Given the description of an element on the screen output the (x, y) to click on. 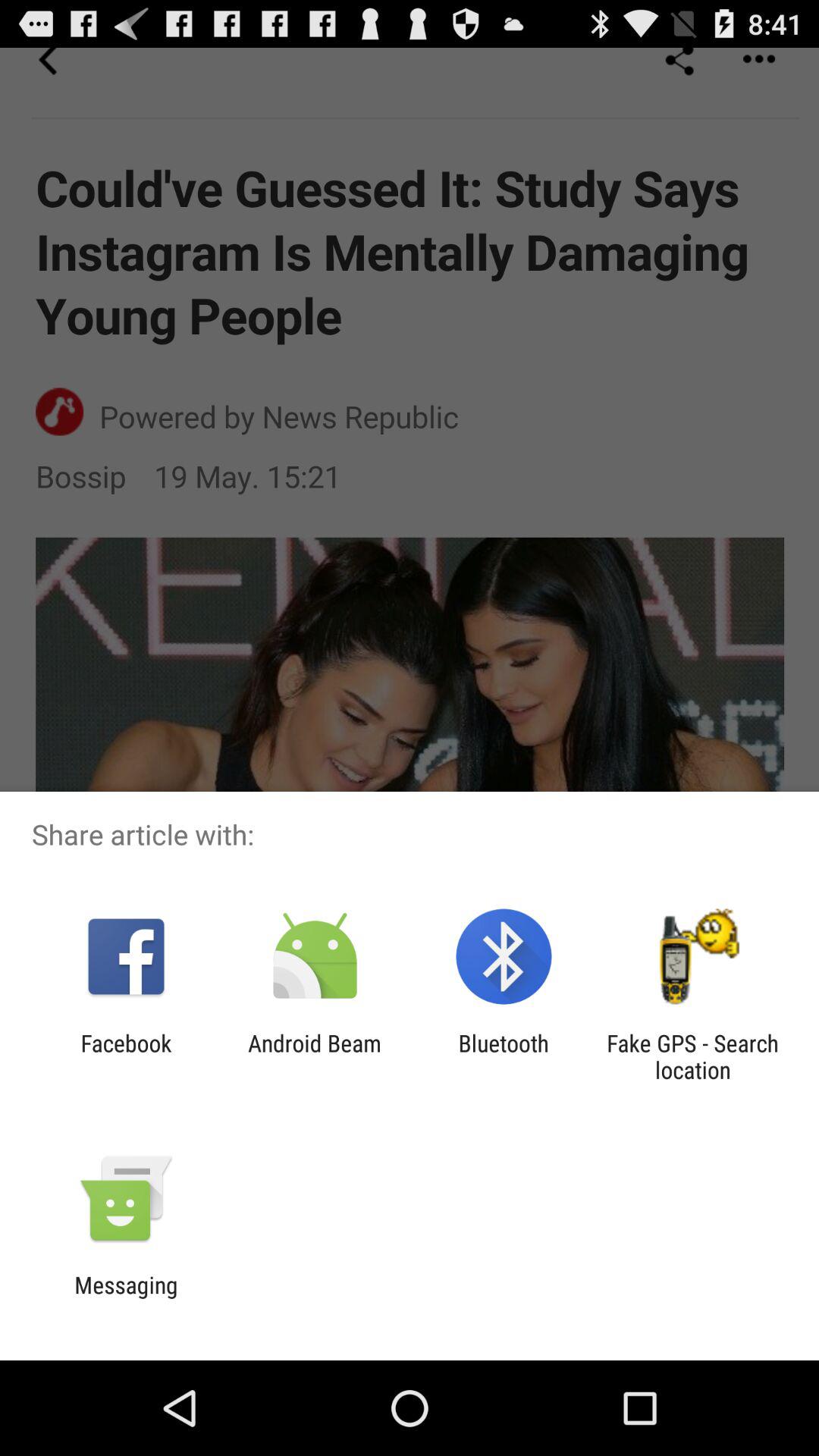
press the icon next to bluetooth app (314, 1056)
